Given the description of an element on the screen output the (x, y) to click on. 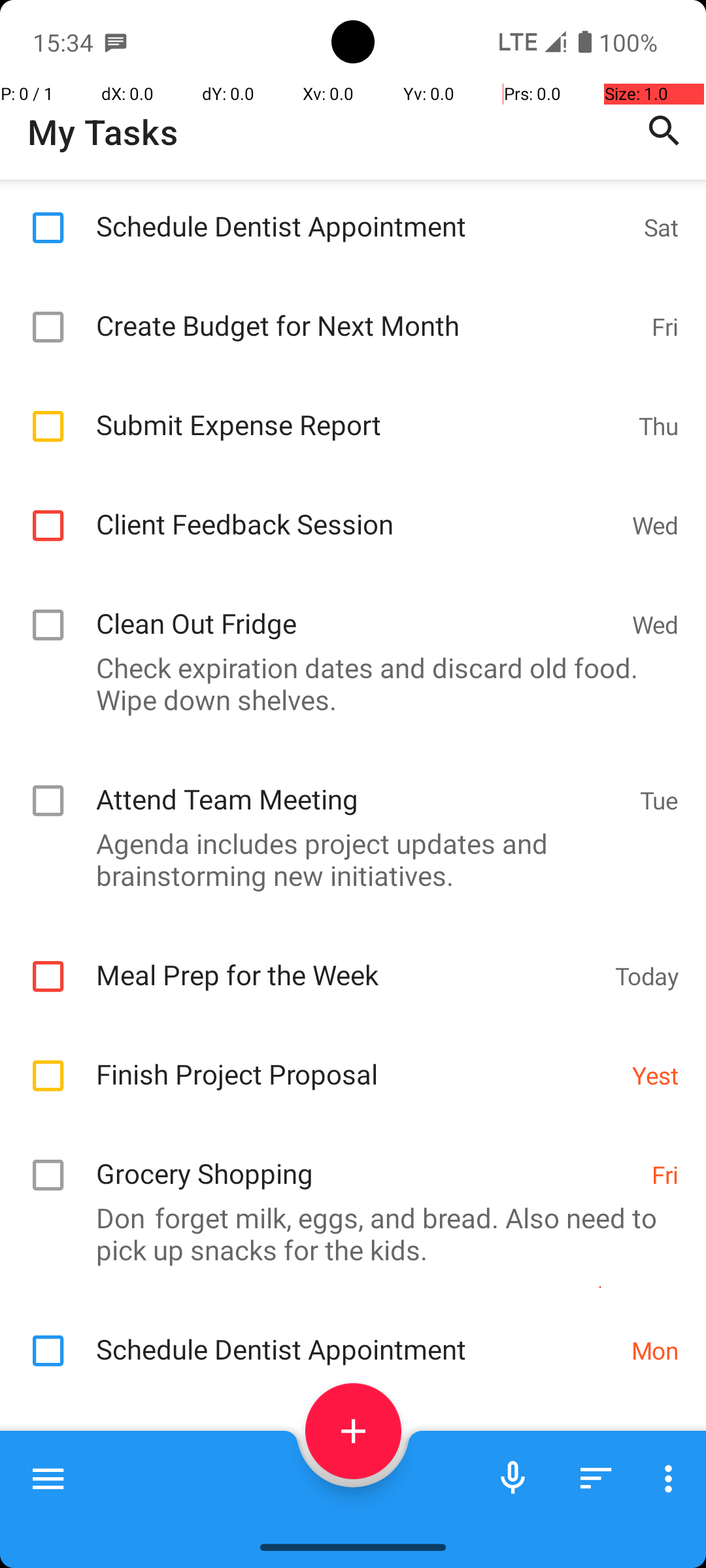
Client Feedback Session Element type: android.widget.TextView (357, 509)
Check expiration dates and discard old food. Wipe down shelves. Element type: android.widget.TextView (346, 683)
Don	 forget milk, eggs, and bread. Also need to pick up snacks for the kids. Element type: android.widget.TextView (346, 1233)
